Given the description of an element on the screen output the (x, y) to click on. 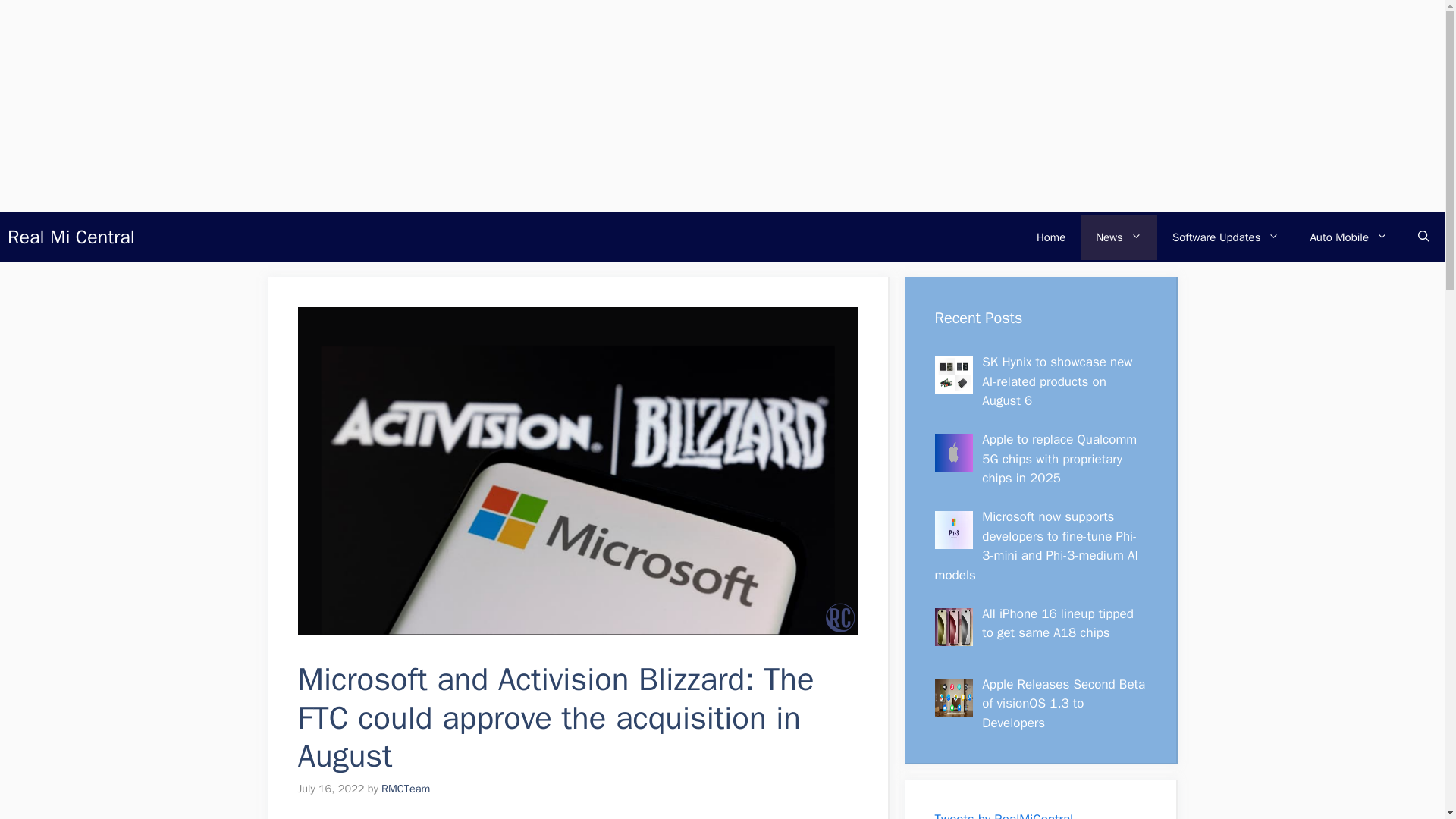
View all posts by RMCTeam (405, 788)
Advertisement (590, 807)
